Given the description of an element on the screen output the (x, y) to click on. 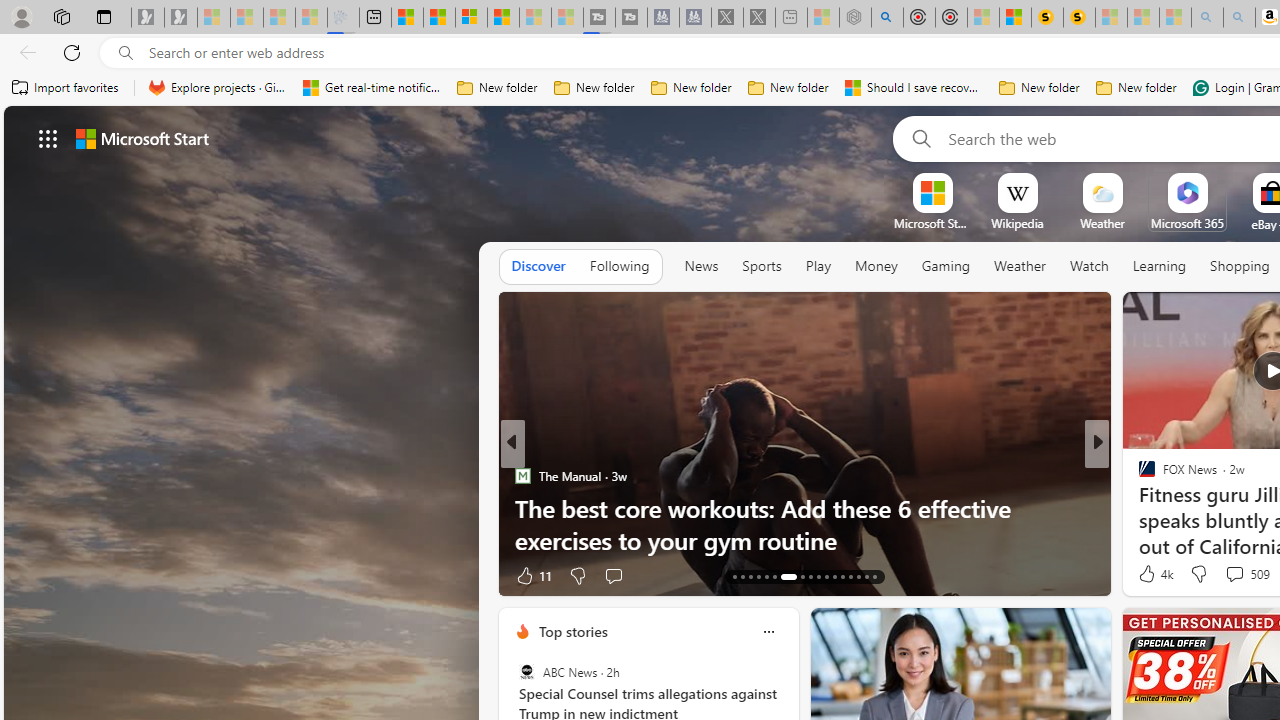
To get missing image descriptions, open the context menu. (932, 192)
AutomationID: tab-19 (782, 576)
AutomationID: tab-21 (810, 576)
AutomationID: tab-22 (818, 576)
Gaming (945, 267)
5 Like (528, 574)
Weather (1019, 267)
X - Sleeping (758, 17)
Should I save recovered Word documents? - Microsoft Support (913, 88)
Learning (1159, 267)
amazon - Search - Sleeping (1206, 17)
